Given the description of an element on the screen output the (x, y) to click on. 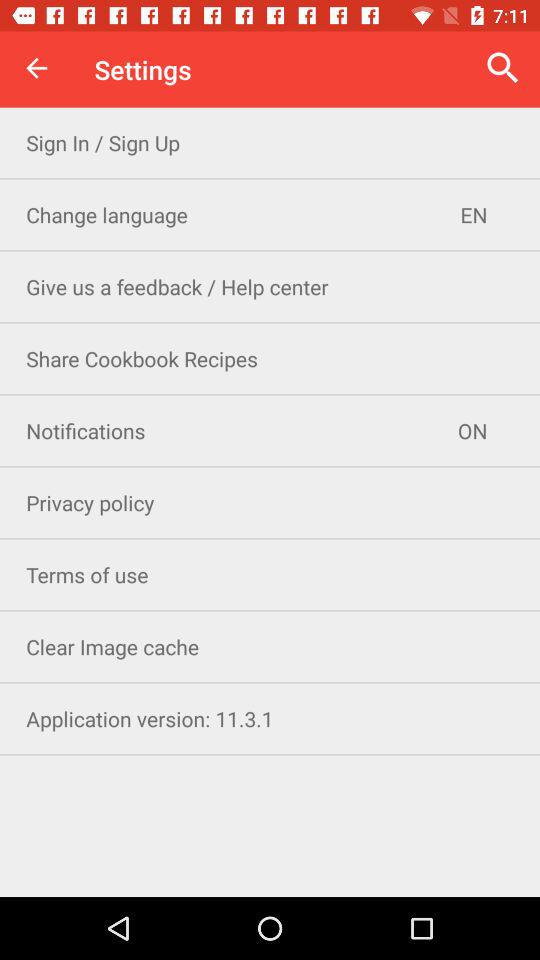
swipe to application version 11 icon (270, 718)
